Given the description of an element on the screen output the (x, y) to click on. 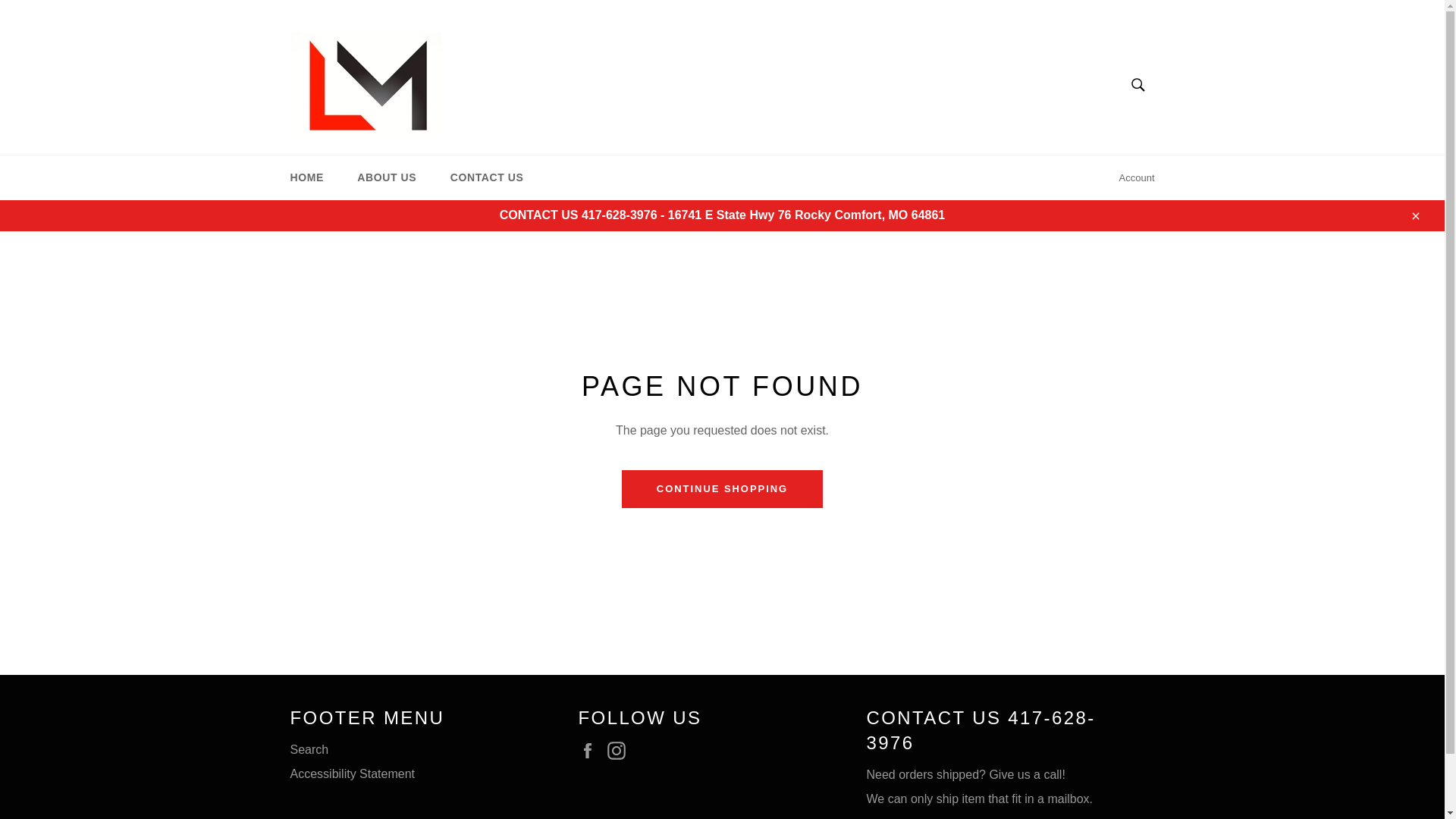
Accessibility Statement (351, 773)
Longview Mill on Facebook (591, 751)
Search (1136, 83)
Instagram (620, 751)
Facebook (591, 751)
Longview Mill on Instagram (620, 751)
ABOUT US (386, 177)
CONTINUE SHOPPING (721, 488)
Close (1414, 214)
HOME (306, 177)
